Given the description of an element on the screen output the (x, y) to click on. 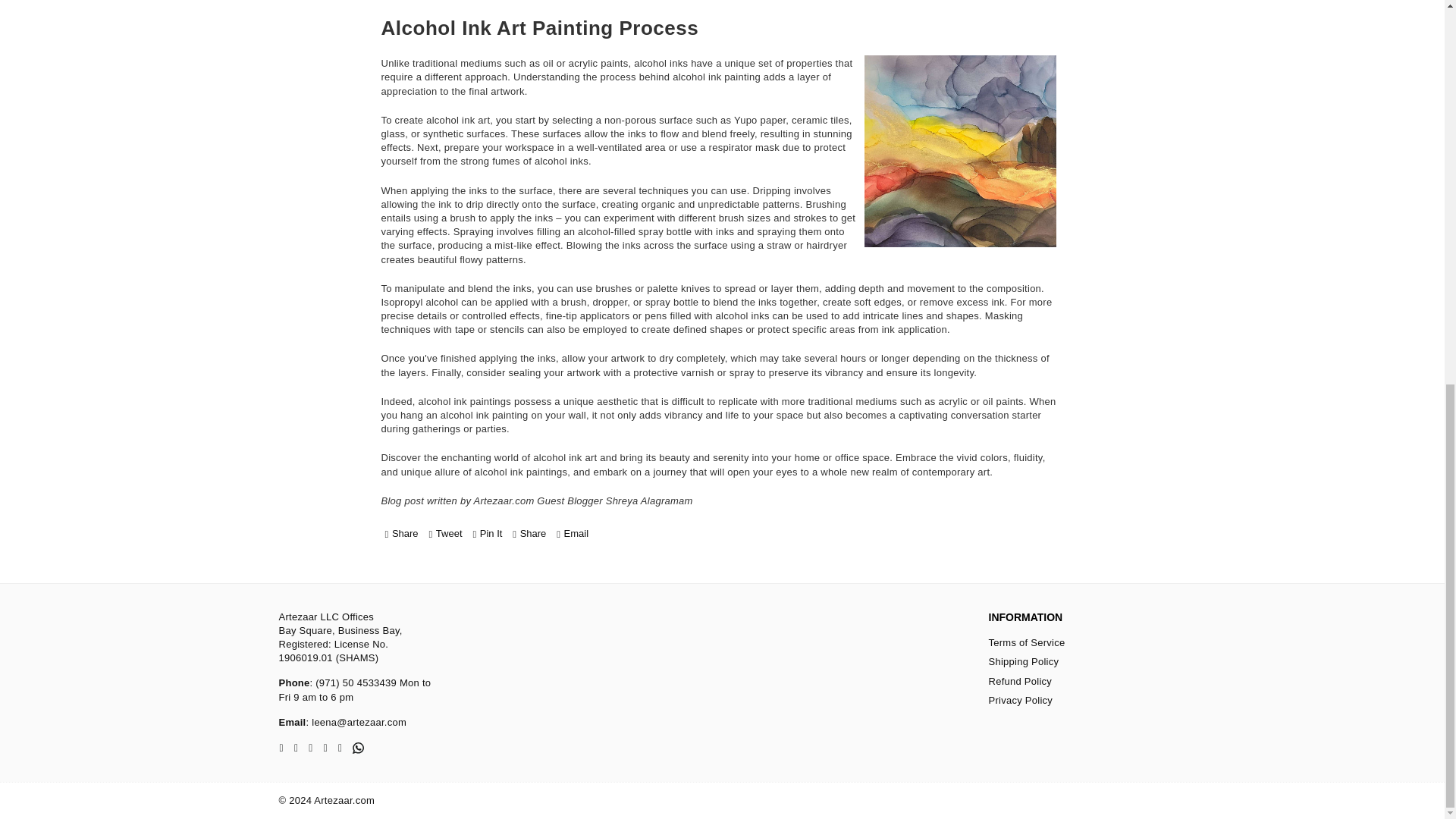
Artezaar.com Online Art Gallery on Whatsapp (358, 747)
Artezaar.com Online Art Gallery on Linkedin (325, 747)
Share by Email (572, 534)
Artezaar.com Online Art Gallery on Twitter (295, 747)
Pin on Pinterest (486, 534)
Share on Linked In (529, 534)
Share on Facebook (402, 534)
Artezaar.com Online Art Gallery on YouTube (340, 747)
Artezaar.com Online Art Gallery on Instagram (309, 747)
Artezaar.com Online Art Gallery on Facebook (281, 747)
Tweet on Twitter (444, 534)
